Given the description of an element on the screen output the (x, y) to click on. 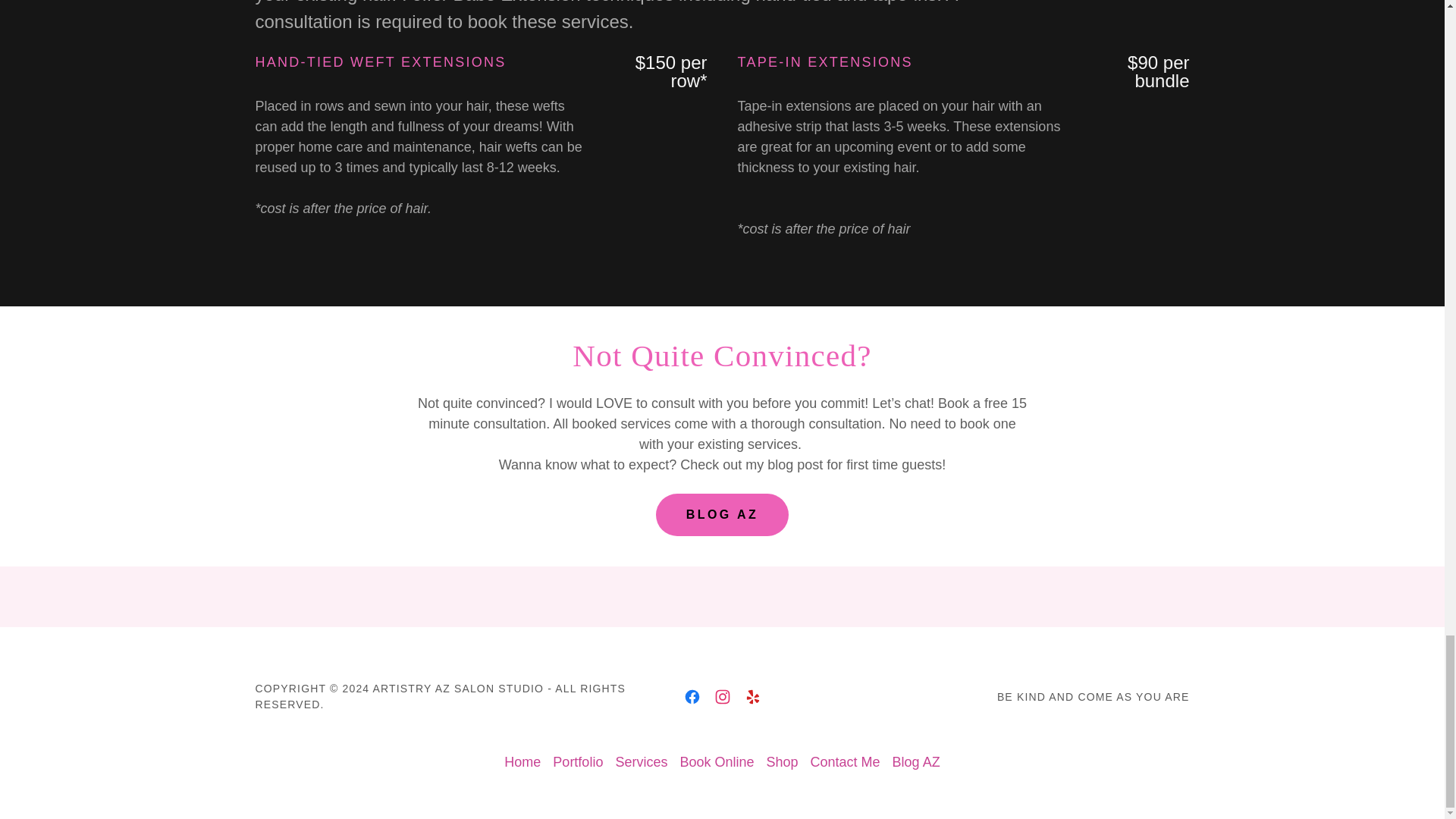
Home (522, 762)
Blog AZ (916, 762)
Contact Me (845, 762)
Services (640, 762)
Portfolio (577, 762)
BLOG AZ (722, 514)
Book Online (716, 762)
Shop (781, 762)
